Given the description of an element on the screen output the (x, y) to click on. 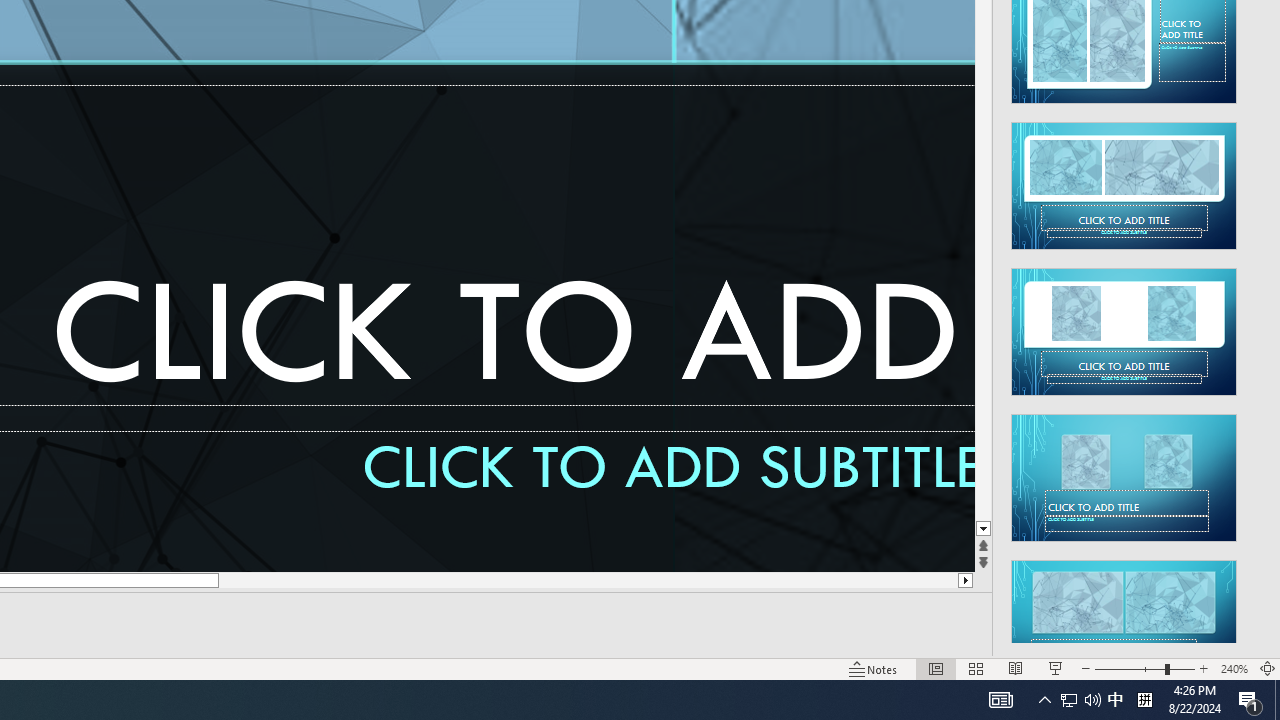
Zoom 240% (1234, 668)
